Given the description of an element on the screen output the (x, y) to click on. 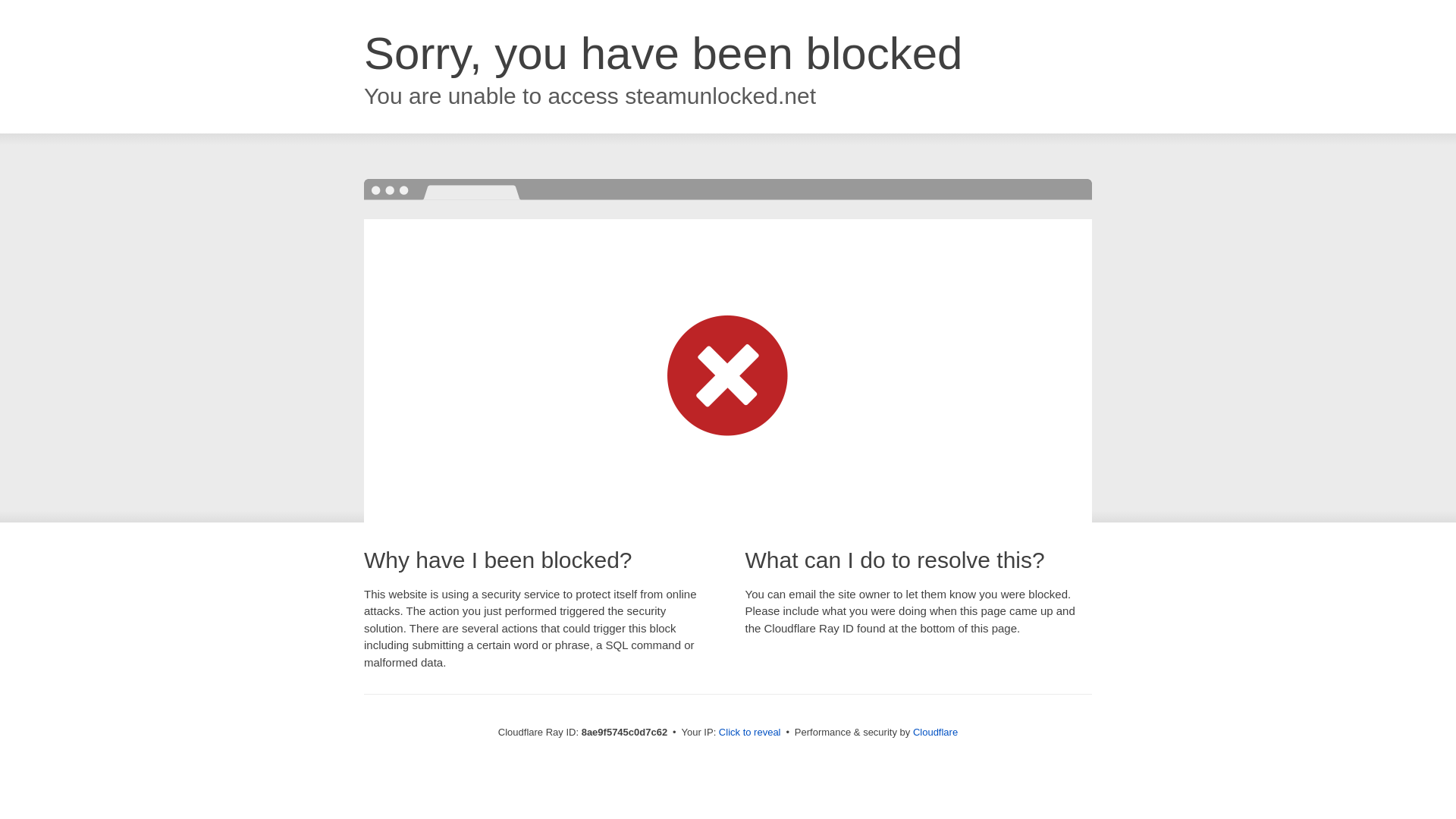
Click to reveal (749, 732)
Cloudflare (935, 731)
